Given the description of an element on the screen output the (x, y) to click on. 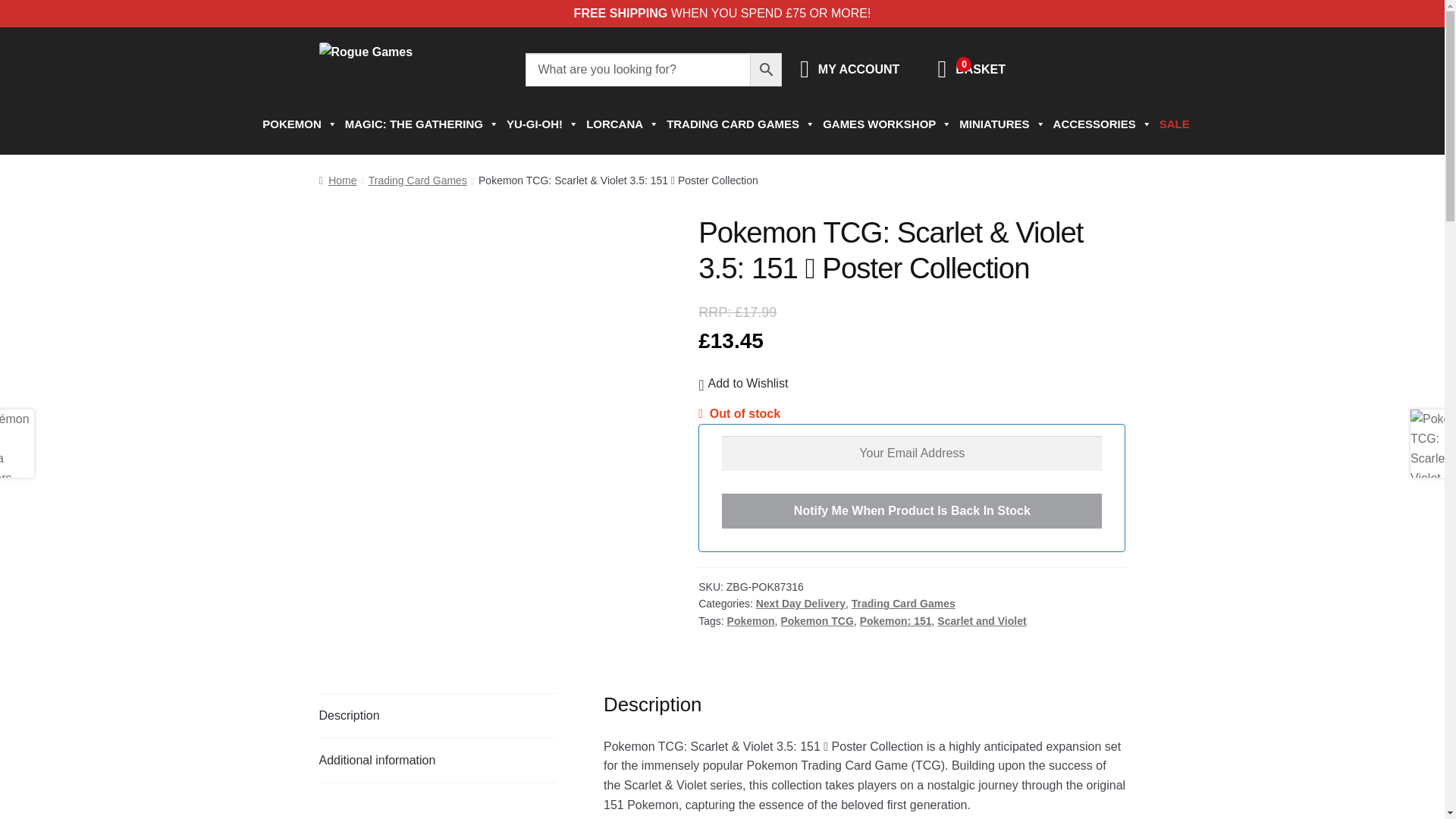
POKEMON (295, 123)
View your shopping basket (980, 69)
Notify Me When Product Is Back In Stock (912, 510)
MAGIC: THE GATHERING (418, 123)
BASKET (980, 69)
MY ACCOUNT (858, 69)
